Given the description of an element on the screen output the (x, y) to click on. 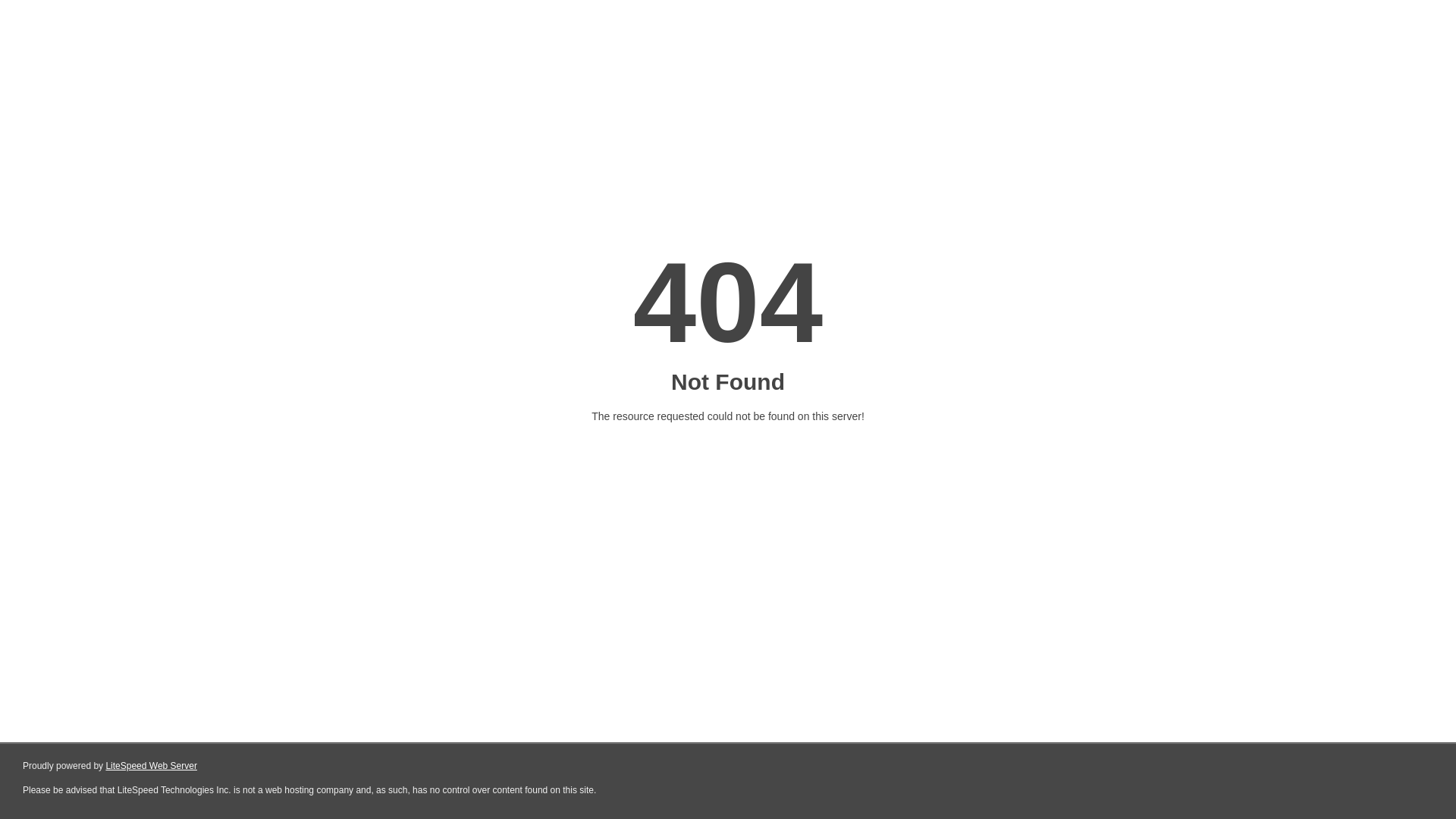
LiteSpeed Web Server (150, 765)
